Given the description of an element on the screen output the (x, y) to click on. 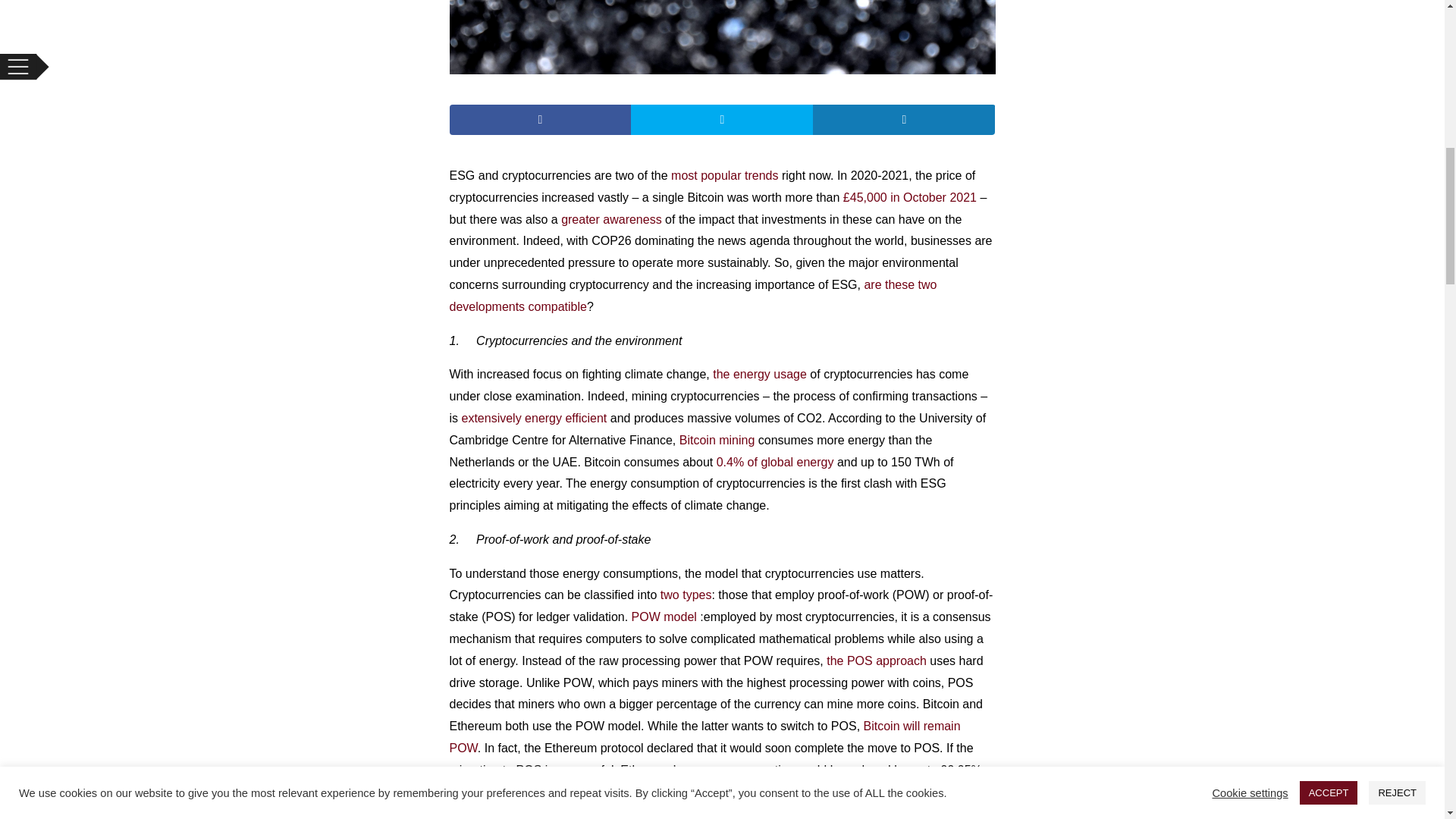
Bitcoin will remain POW (703, 736)
extensively energy efficient (534, 418)
are these two developments compatible (692, 295)
kanchanara-9pCV2MB65y8-unsplash (721, 37)
the POS approach (876, 660)
greater awareness (611, 219)
a POS Ethereum (566, 812)
the energy usage (759, 373)
two types (686, 594)
most popular trends (724, 174)
